Given the description of an element on the screen output the (x, y) to click on. 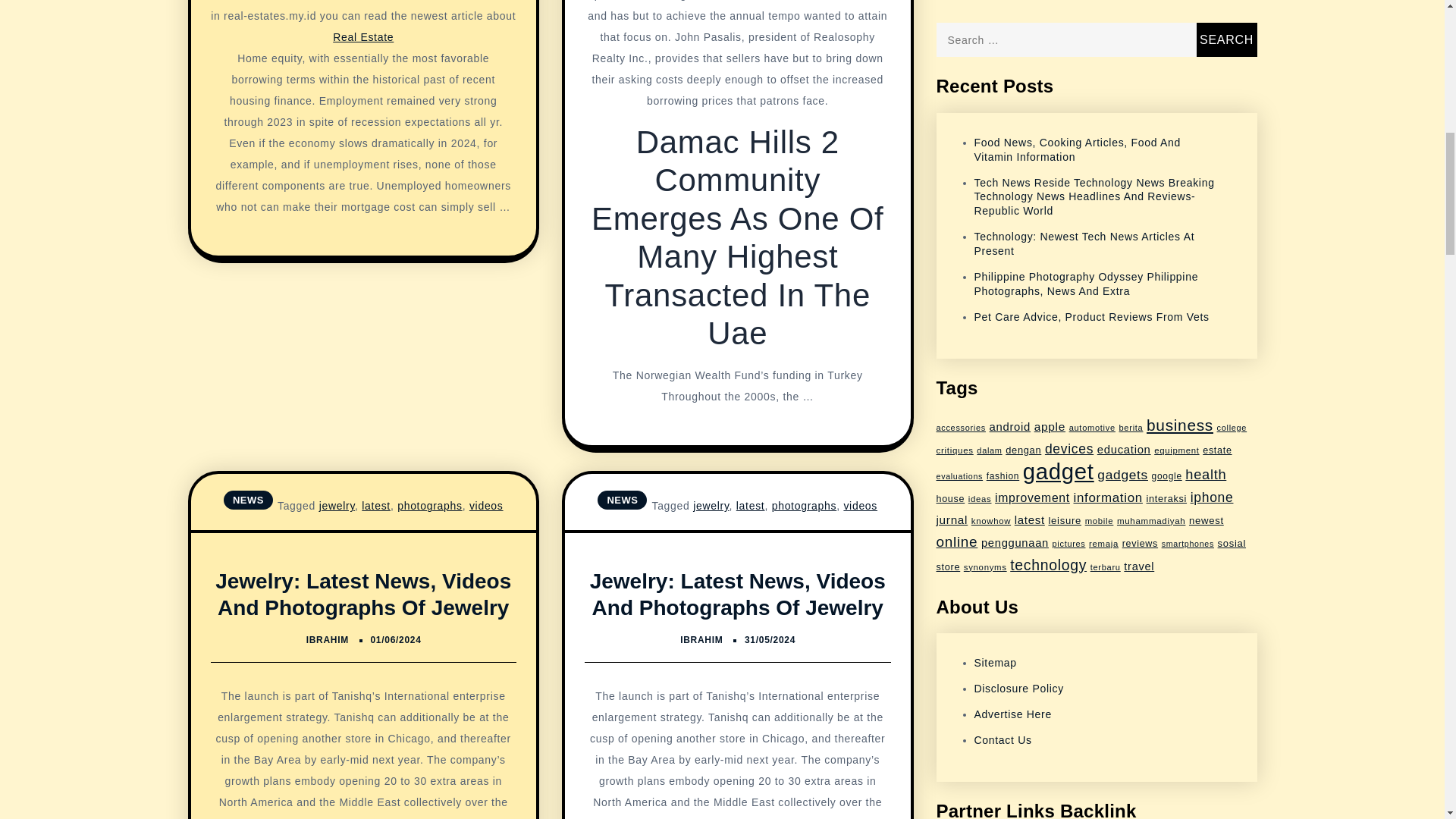
photographs (430, 505)
IBRAHIM (327, 639)
latest (375, 505)
jewelry (336, 505)
NEWS (248, 499)
Jewelry: Latest News, Videos And Photographs Of Jewelry (363, 594)
videos (485, 505)
Real Estate (363, 37)
